Given the description of an element on the screen output the (x, y) to click on. 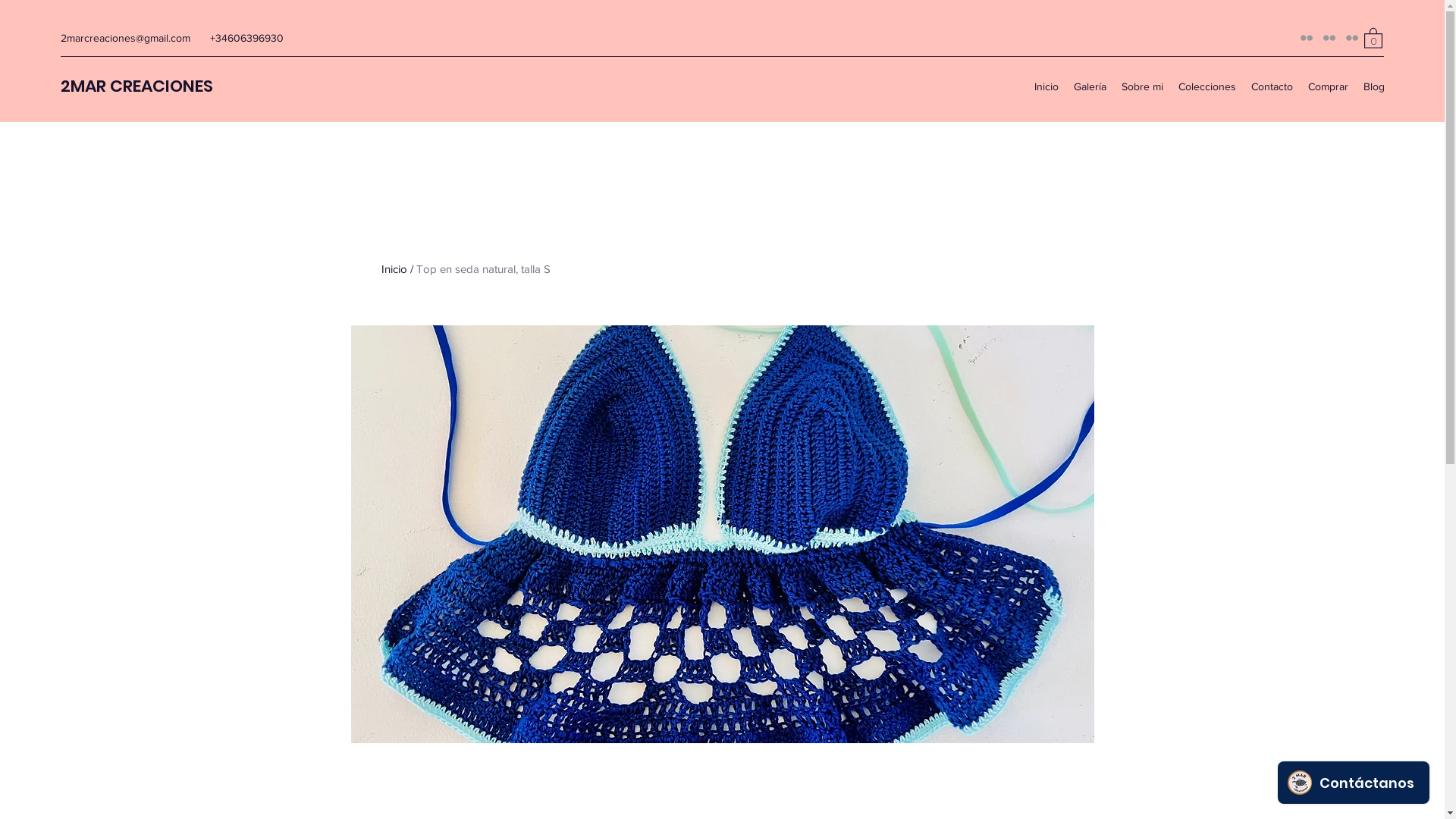
0 Element type: text (1373, 37)
Colecciones Element type: text (1206, 86)
2marcreaciones@gmail.com Element type: text (125, 37)
Inicio Element type: text (393, 268)
Blog Element type: text (1373, 86)
Sobre mi Element type: text (1141, 86)
Comprar Element type: text (1327, 86)
Inicio Element type: text (1046, 86)
Contacto Element type: text (1271, 86)
Top en seda natural, talla S Element type: text (482, 268)
2MAR CREACIONES Element type: text (136, 85)
